Given the description of an element on the screen output the (x, y) to click on. 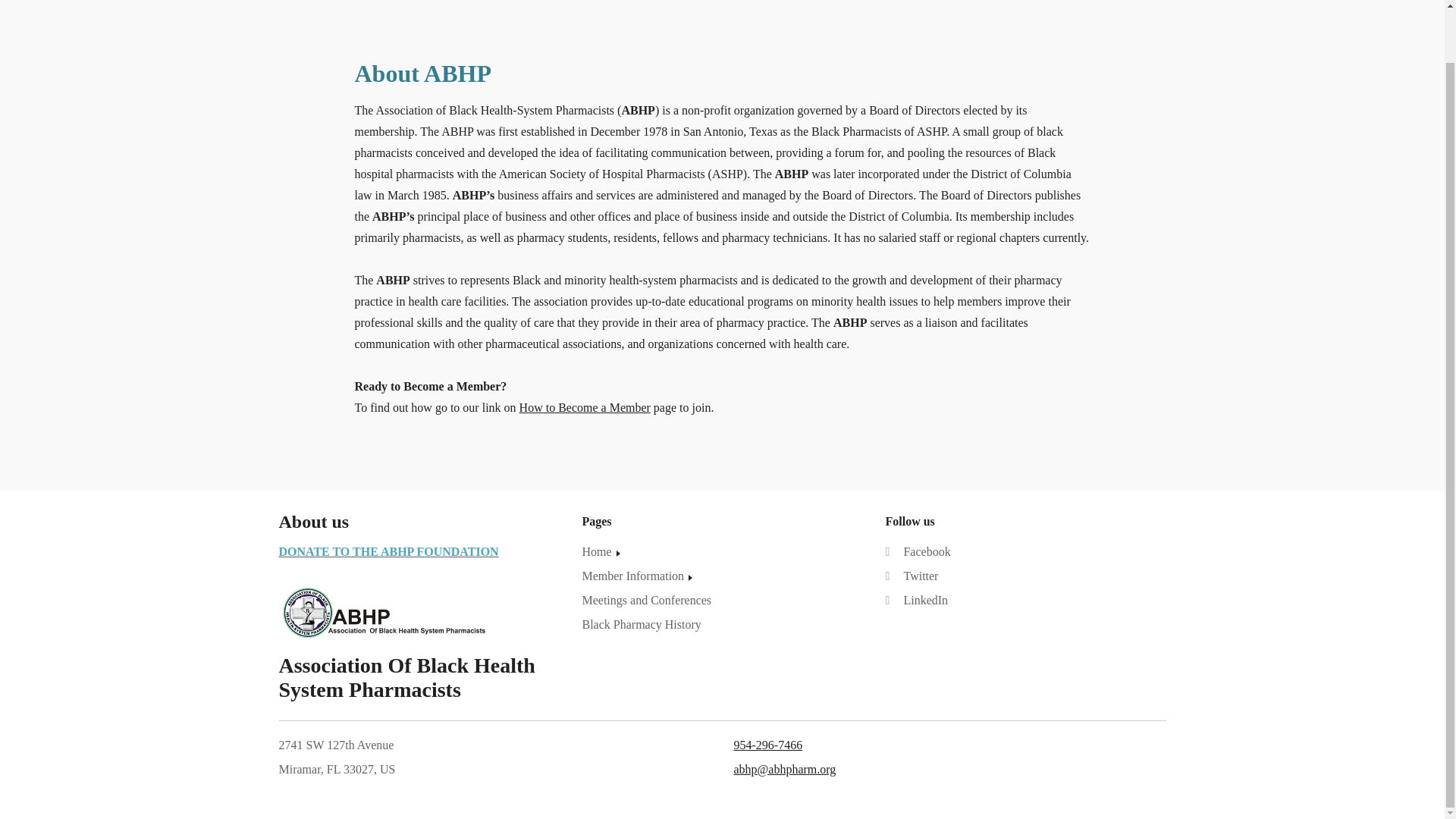
Member Information (637, 576)
How to Become a Member (584, 407)
Home (601, 551)
Facebook (917, 551)
Meetings and Conferences (645, 600)
LinkedIn (916, 600)
Twitter (911, 576)
DONATE TO THE ABHP FOUNDATION (389, 551)
Black Pharmacy History (640, 624)
